Given the description of an element on the screen output the (x, y) to click on. 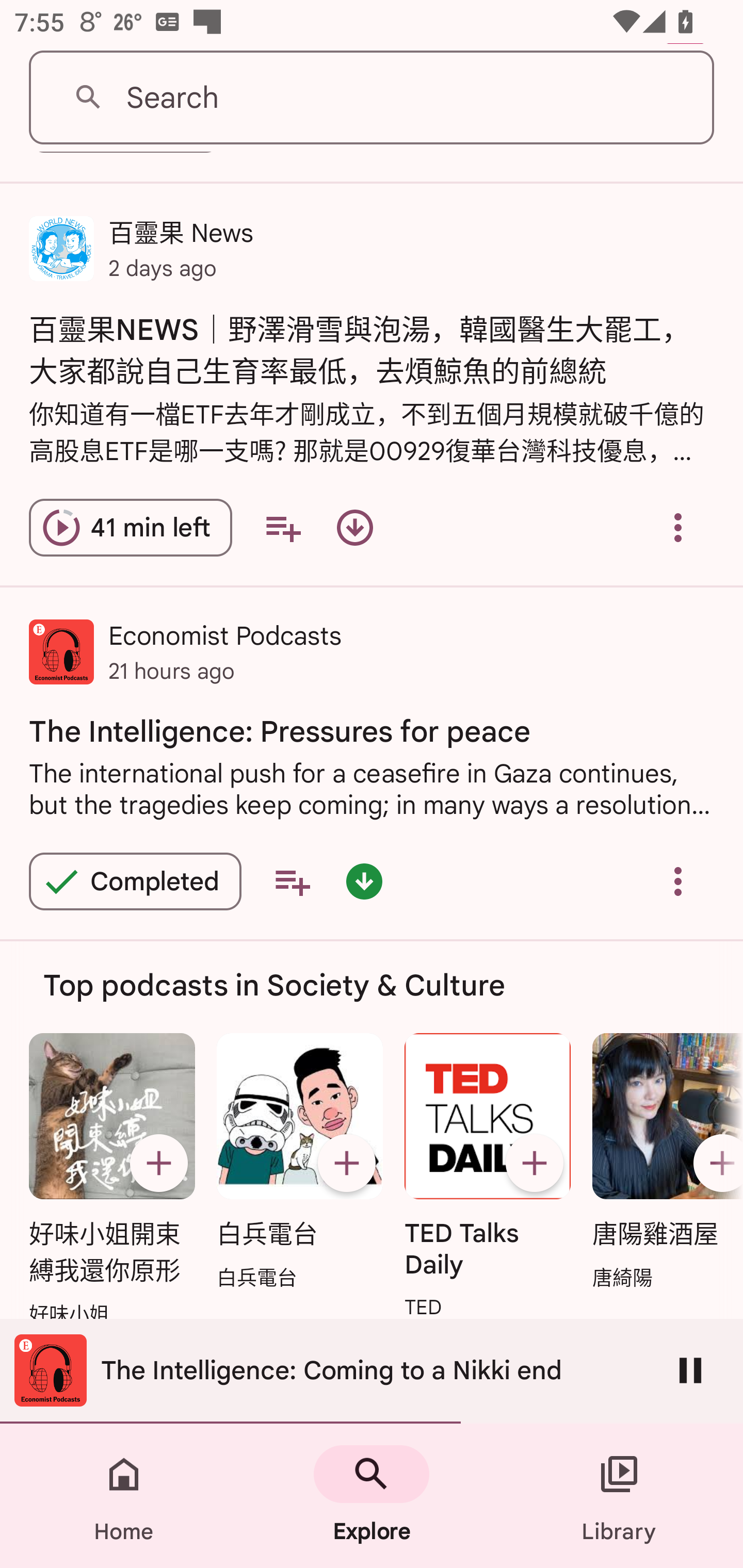
Search (371, 97)
Add to your queue (282, 527)
Download episode (354, 527)
Overflow menu (677, 527)
Add to your queue (291, 881)
Episode downloaded - double tap for options (364, 881)
Overflow menu (677, 881)
好味小姐開束縛我還你原形 Subscribe 好味小姐開束縛我還你原形 好味小姐 (111, 1181)
白兵電台 Subscribe 白兵電台 白兵電台 (299, 1162)
TED Talks Daily Subscribe TED Talks Daily TED (487, 1177)
唐陽雞酒屋 Subscribe 唐陽雞酒屋 唐綺陽 (662, 1162)
Subscribe (158, 1163)
Subscribe (346, 1163)
Subscribe (534, 1163)
Subscribe (714, 1163)
Pause (690, 1370)
Home (123, 1495)
Library (619, 1495)
